Given the description of an element on the screen output the (x, y) to click on. 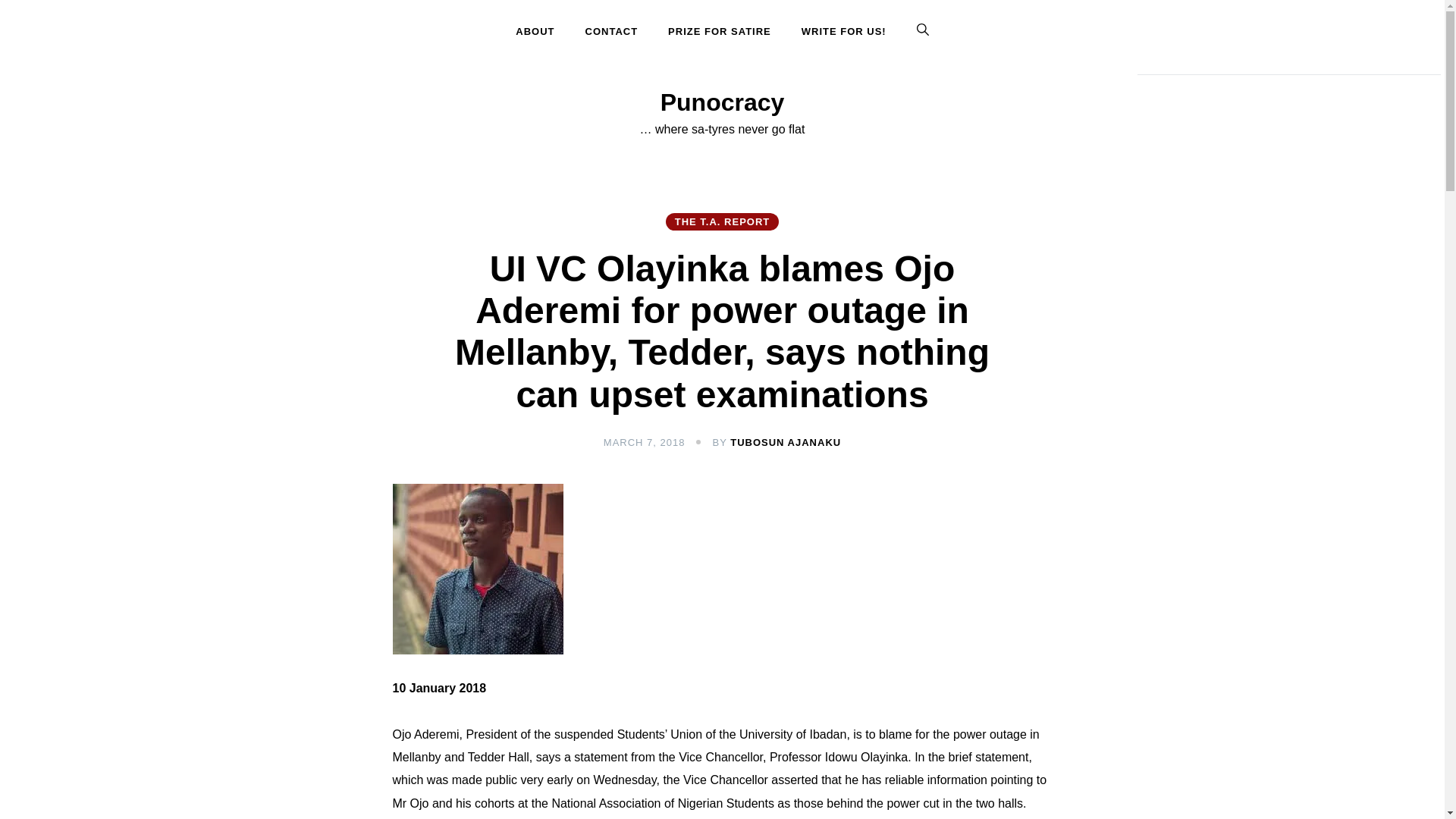
Punocracy (722, 102)
ABOUT (542, 32)
THE T.A. REPORT (721, 221)
TUBOSUN AJANAKU (785, 441)
WRITE FOR US! (843, 32)
PRIZE FOR SATIRE (719, 32)
CONTACT (611, 32)
MARCH 7, 2018 (644, 441)
